Given the description of an element on the screen output the (x, y) to click on. 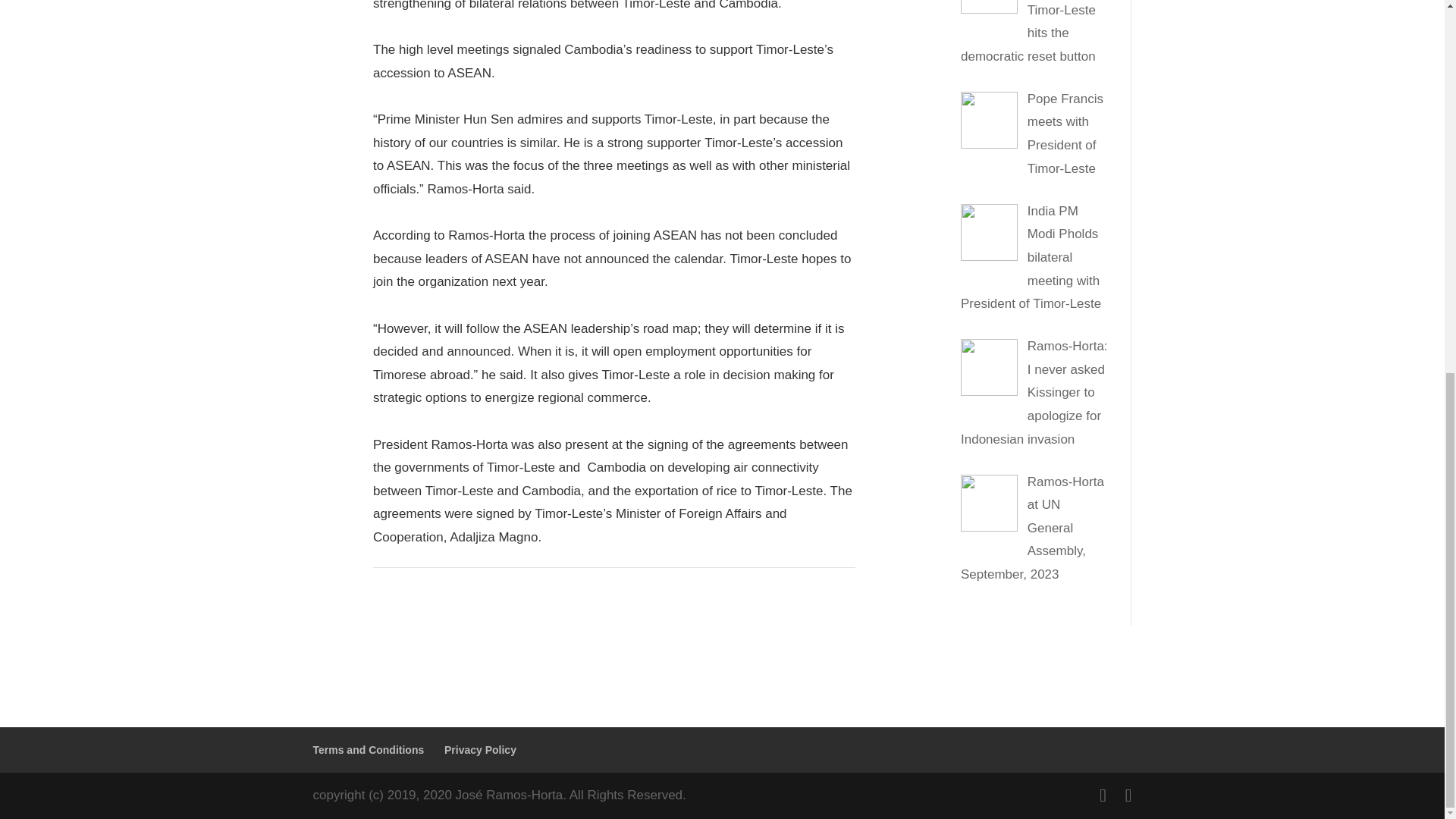
Privacy Policy (480, 749)
Ramos-Horta at UN General Assembly, September, 2023 (1031, 528)
Terms and Conditions (368, 749)
Pope Francis meets with President of Timor-Leste (1065, 133)
